Given the description of an element on the screen output the (x, y) to click on. 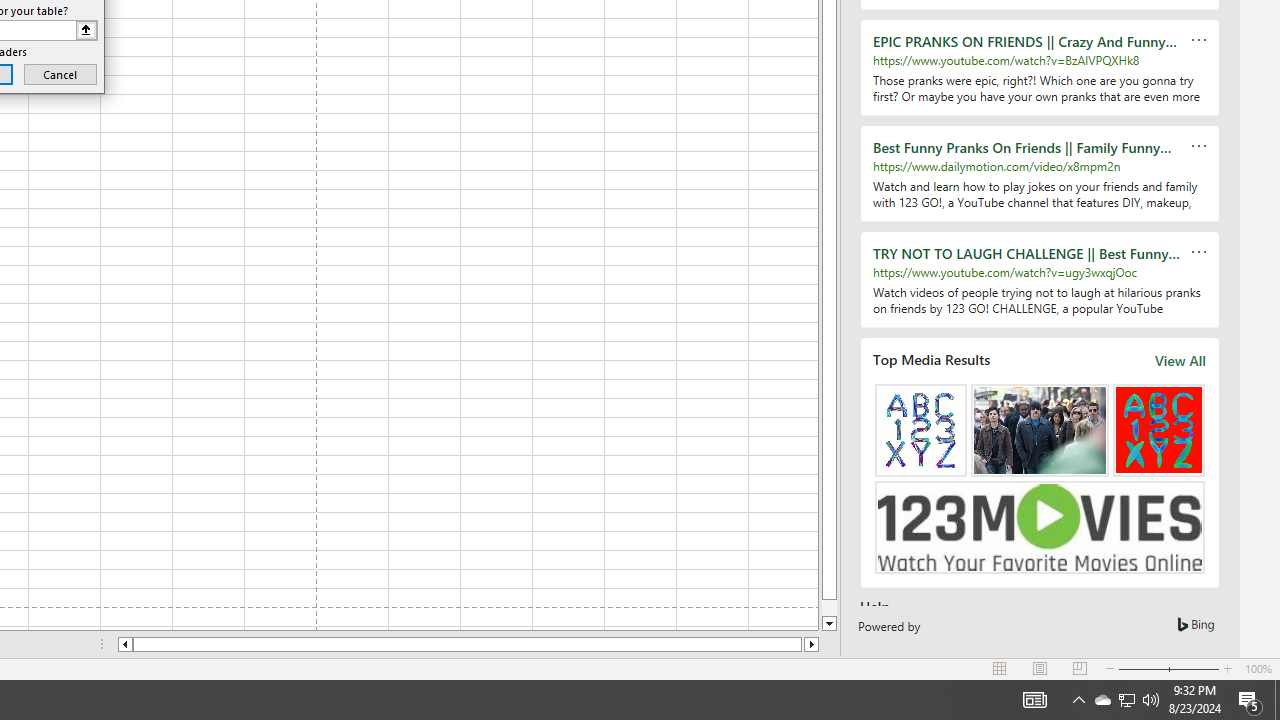
Q2790: 100% (1126, 699)
